Given the description of an element on the screen output the (x, y) to click on. 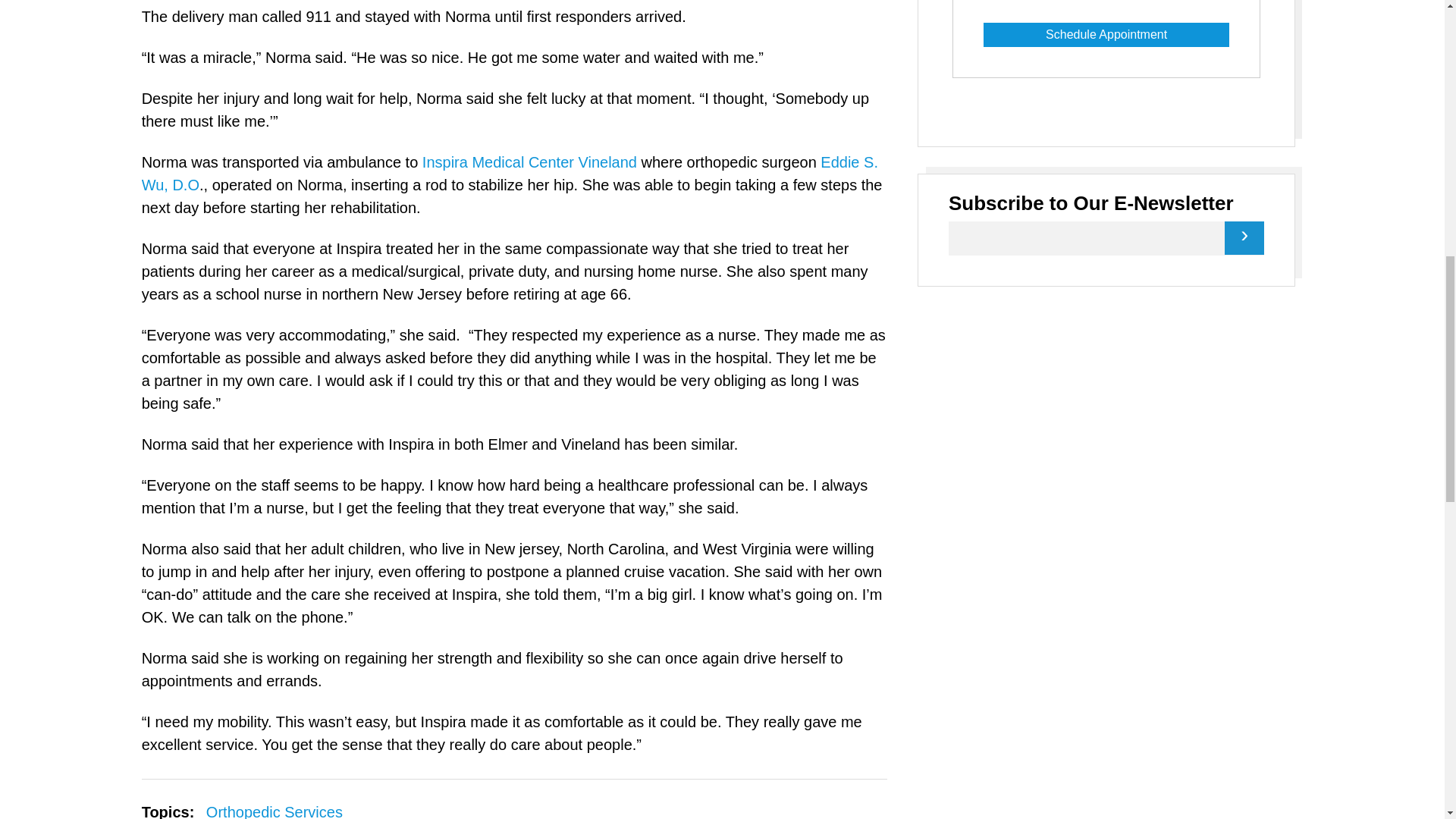
Orthopedic Services (274, 811)
Inspira Medical Center Vineland (529, 161)
Eddie S. Wu, D.O (509, 173)
